Given the description of an element on the screen output the (x, y) to click on. 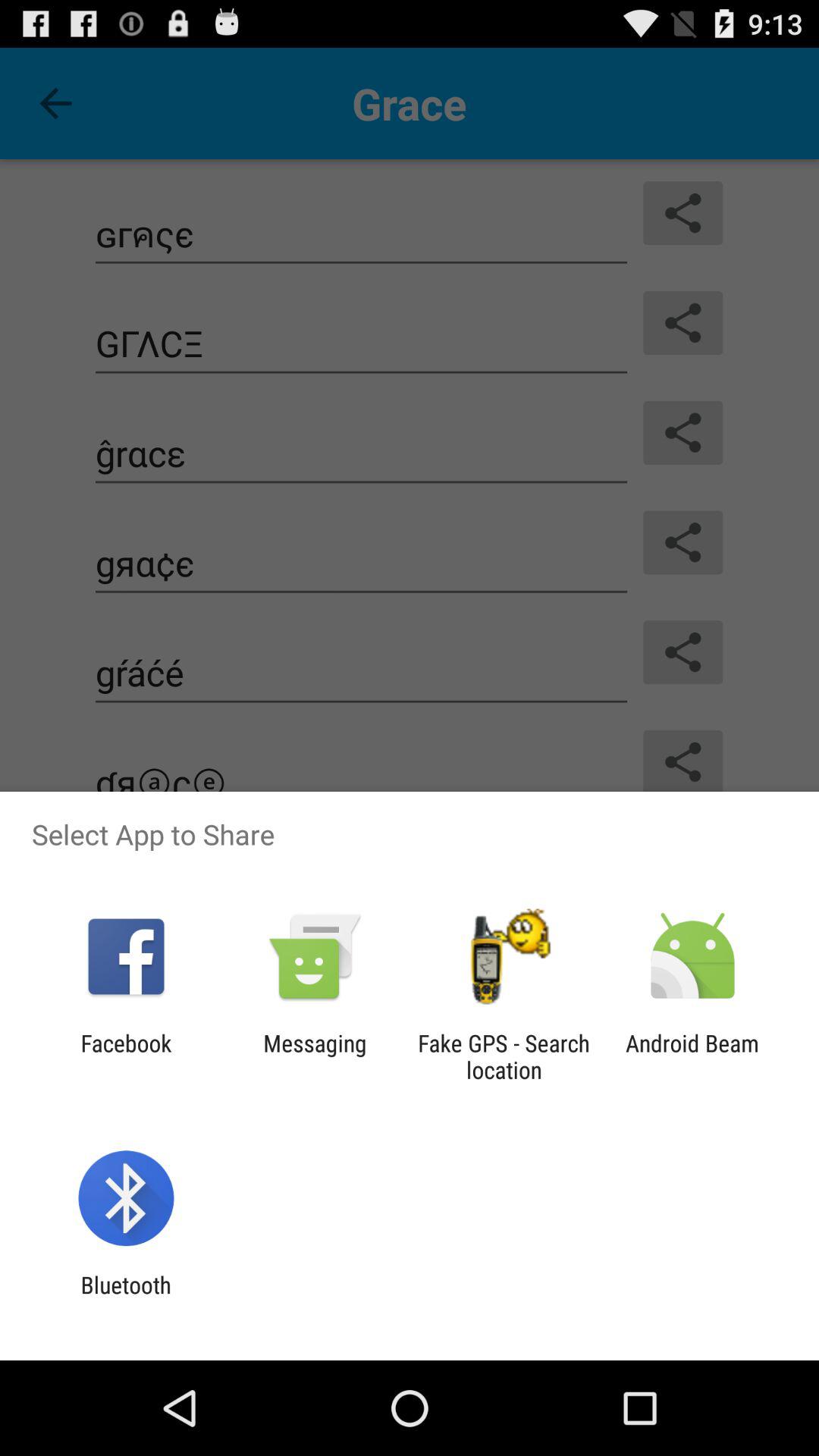
launch the icon to the left of the android beam icon (503, 1056)
